Given the description of an element on the screen output the (x, y) to click on. 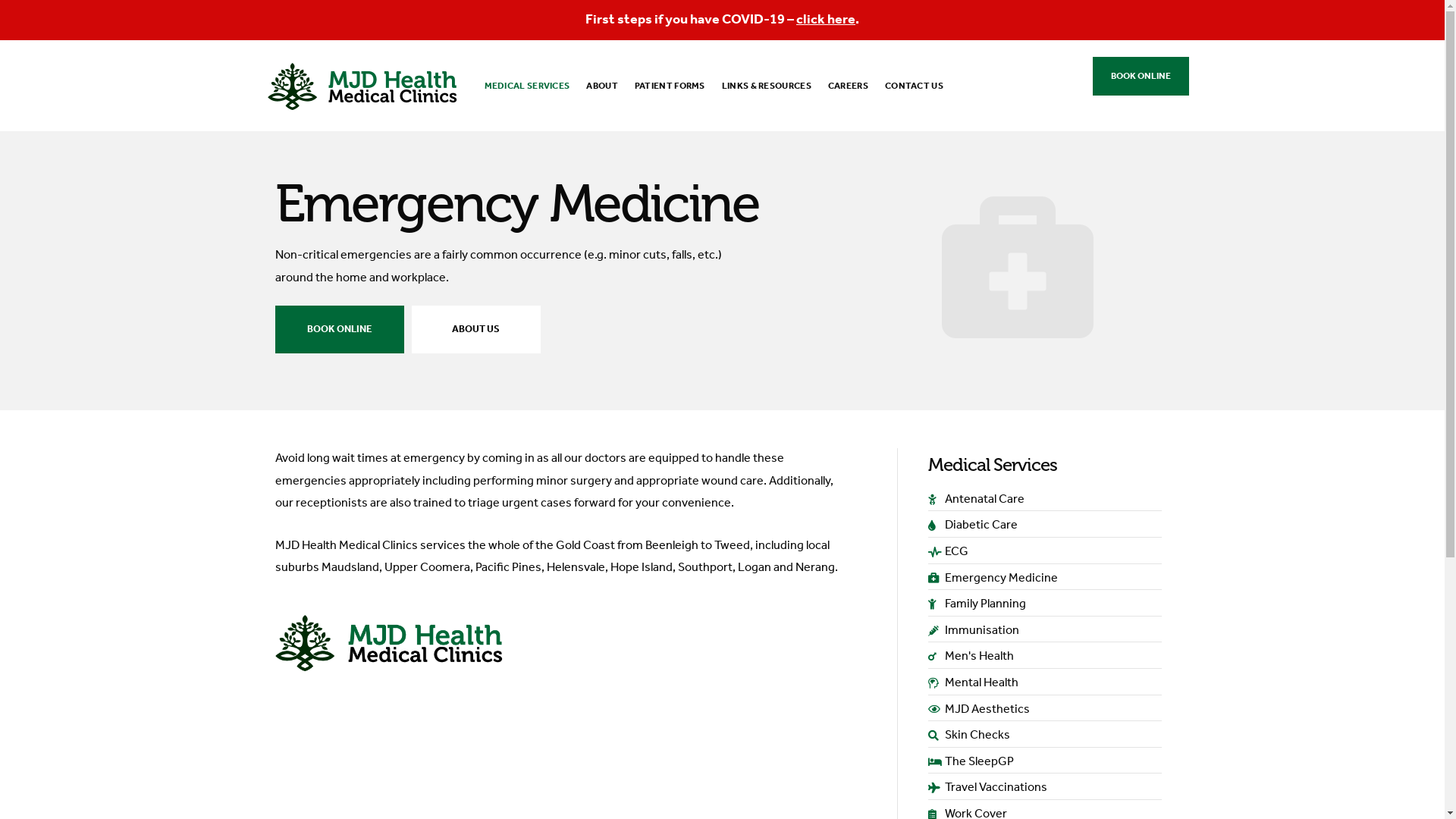
CONTACT US Element type: text (913, 86)
PATIENT FORMS Element type: text (669, 86)
ECG Element type: text (1045, 552)
Diabetic Care Element type: text (1045, 526)
Mental Health Element type: text (1045, 683)
Family Planning Element type: text (1045, 604)
Men's Health Element type: text (1045, 657)
ABOUT US Element type: text (475, 329)
Antenatal Care Element type: text (1045, 500)
The SleepGP Element type: text (1045, 762)
CAREERS Element type: text (847, 86)
click here Element type: text (825, 19)
Skin Checks Element type: text (1045, 736)
Emergency Medicine Element type: text (1045, 579)
Travel Vaccinations Element type: text (1045, 788)
BOOK ONLINE Element type: text (1140, 75)
Immunisation Element type: text (1045, 631)
LINKS & RESOURCES Element type: text (766, 86)
ABOUT Element type: text (601, 86)
MEDICAL SERVICES Element type: text (527, 86)
MJD Aesthetics Element type: text (1045, 710)
BOOK ONLINE Element type: text (338, 329)
